Given the description of an element on the screen output the (x, y) to click on. 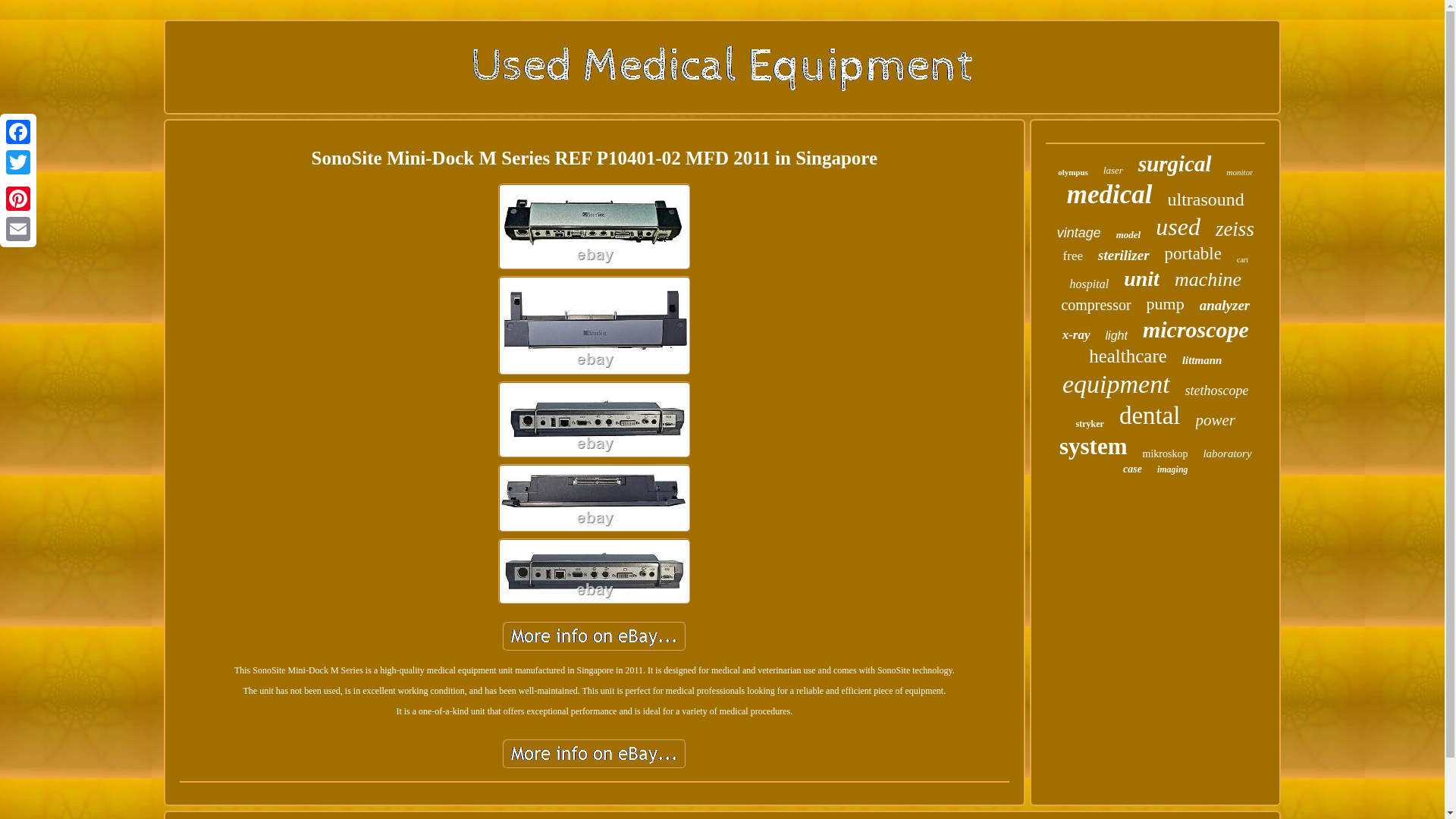
medical (1110, 194)
compressor (1096, 304)
x-ray (1076, 335)
Facebook (17, 132)
used (1177, 226)
surgical (1174, 163)
laser (1112, 170)
vintage (1078, 232)
